Given the description of an element on the screen output the (x, y) to click on. 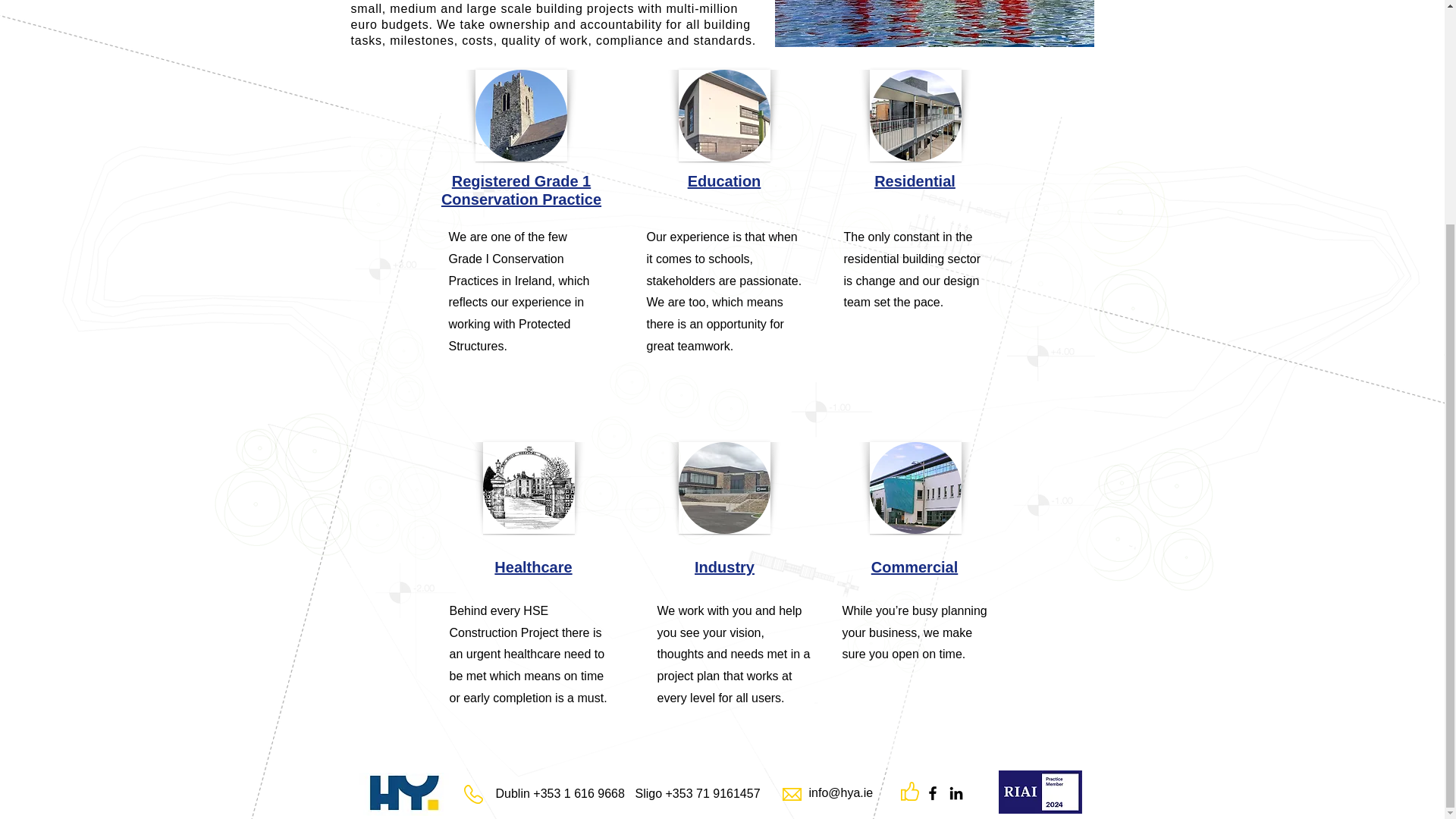
Commercial (914, 566)
Registered Grade 1 Conservation Practice (521, 190)
Healthcare (533, 566)
Residential (915, 180)
RIAI-P04-NW RGB-SM.jpg (1039, 792)
Education (724, 180)
Industry (724, 566)
